Given the description of an element on the screen output the (x, y) to click on. 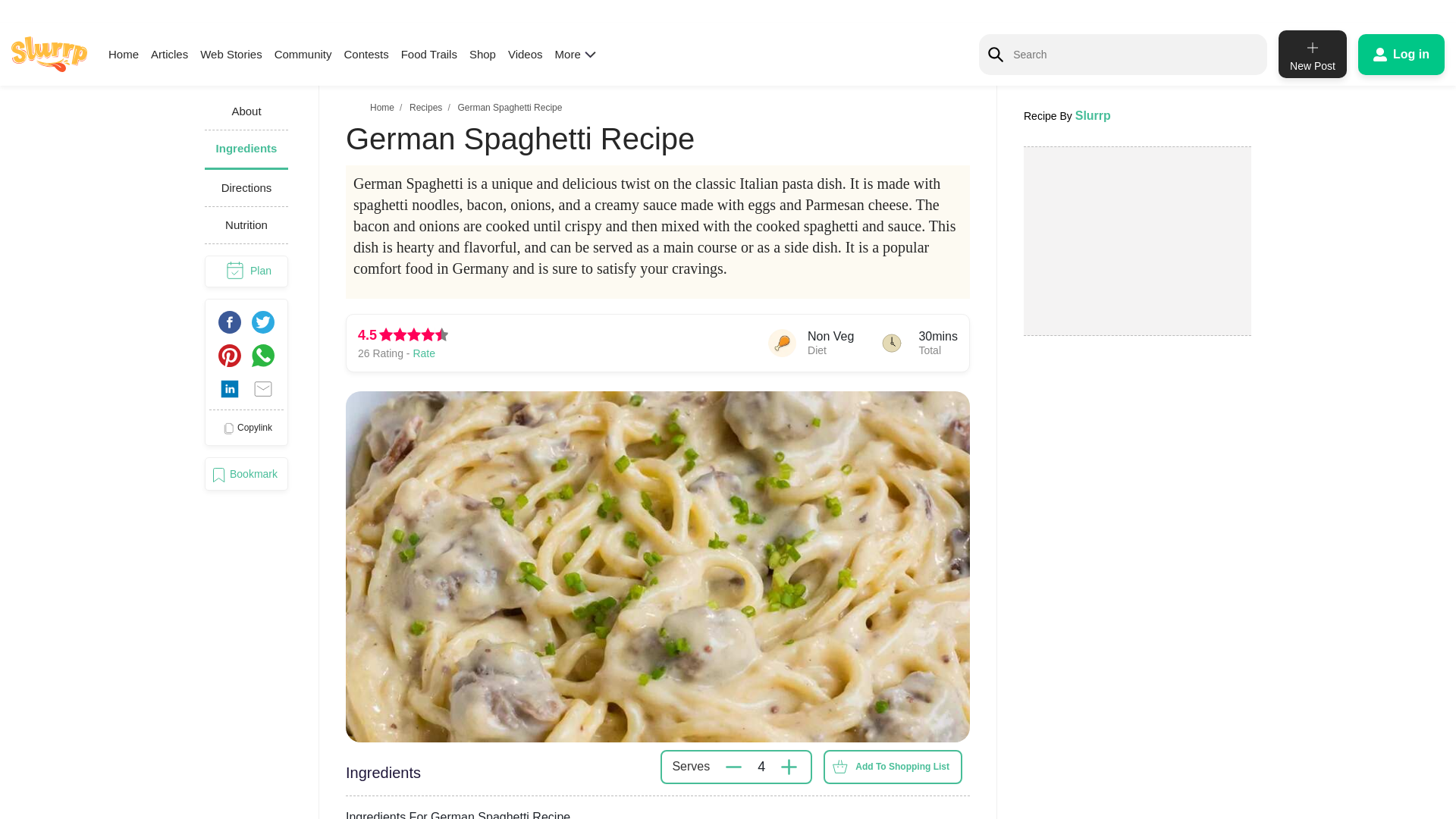
Log in (1401, 53)
Articles (169, 53)
Food Trails (429, 53)
Community (303, 53)
Web Stories (231, 53)
New Post (1312, 53)
Copylink (246, 427)
copy link (246, 427)
Shop (482, 53)
Recipes (425, 107)
